Given the description of an element on the screen output the (x, y) to click on. 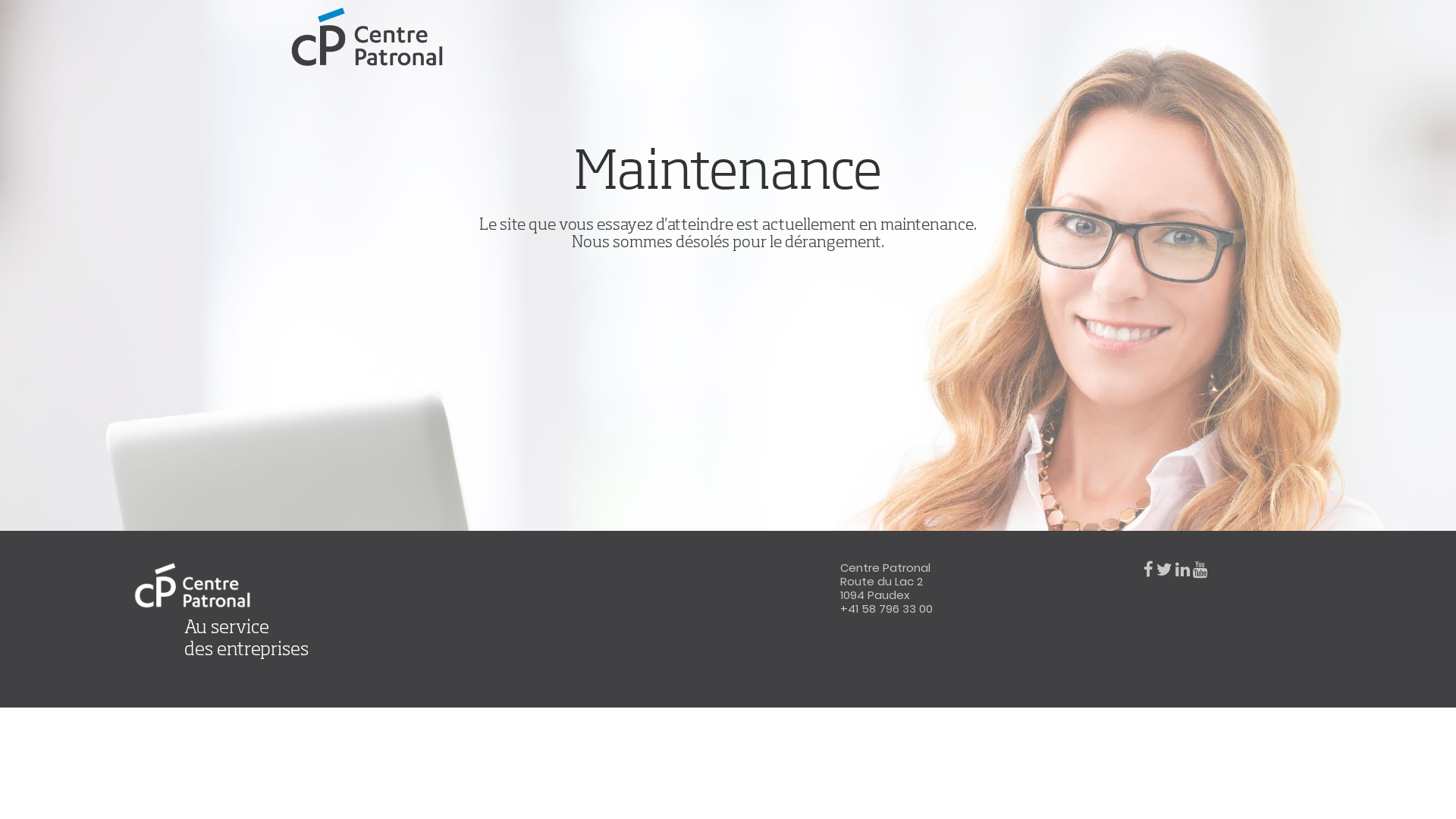
+41 58 796 33 00 Element type: text (886, 608)
